Given the description of an element on the screen output the (x, y) to click on. 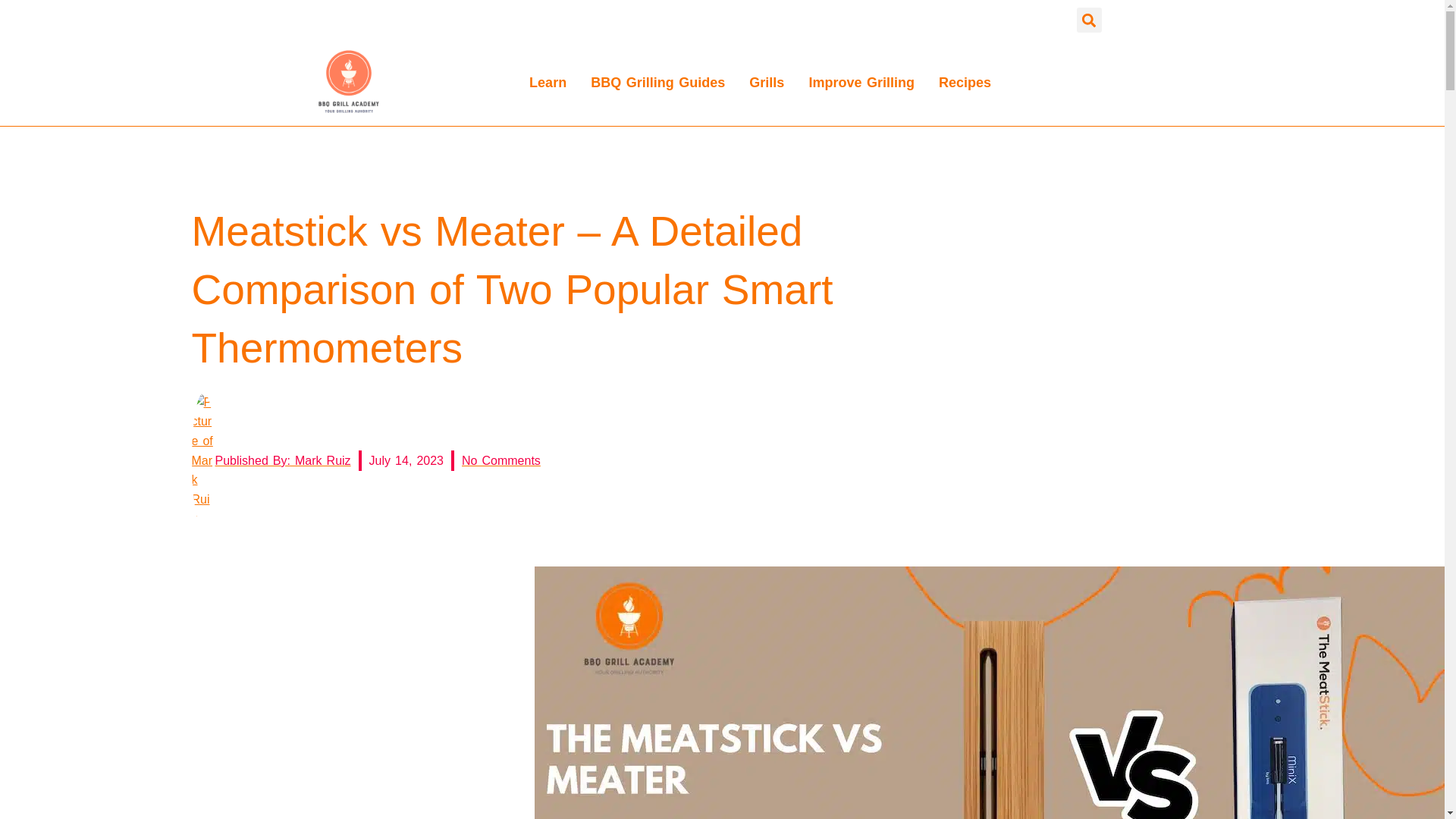
Improve Grilling (861, 82)
Grills (766, 82)
No Comments (500, 460)
BBQ Grilling Guides (657, 82)
Recipes (964, 82)
Learn (547, 82)
Published By: Mark Ruiz (270, 460)
